Given the description of an element on the screen output the (x, y) to click on. 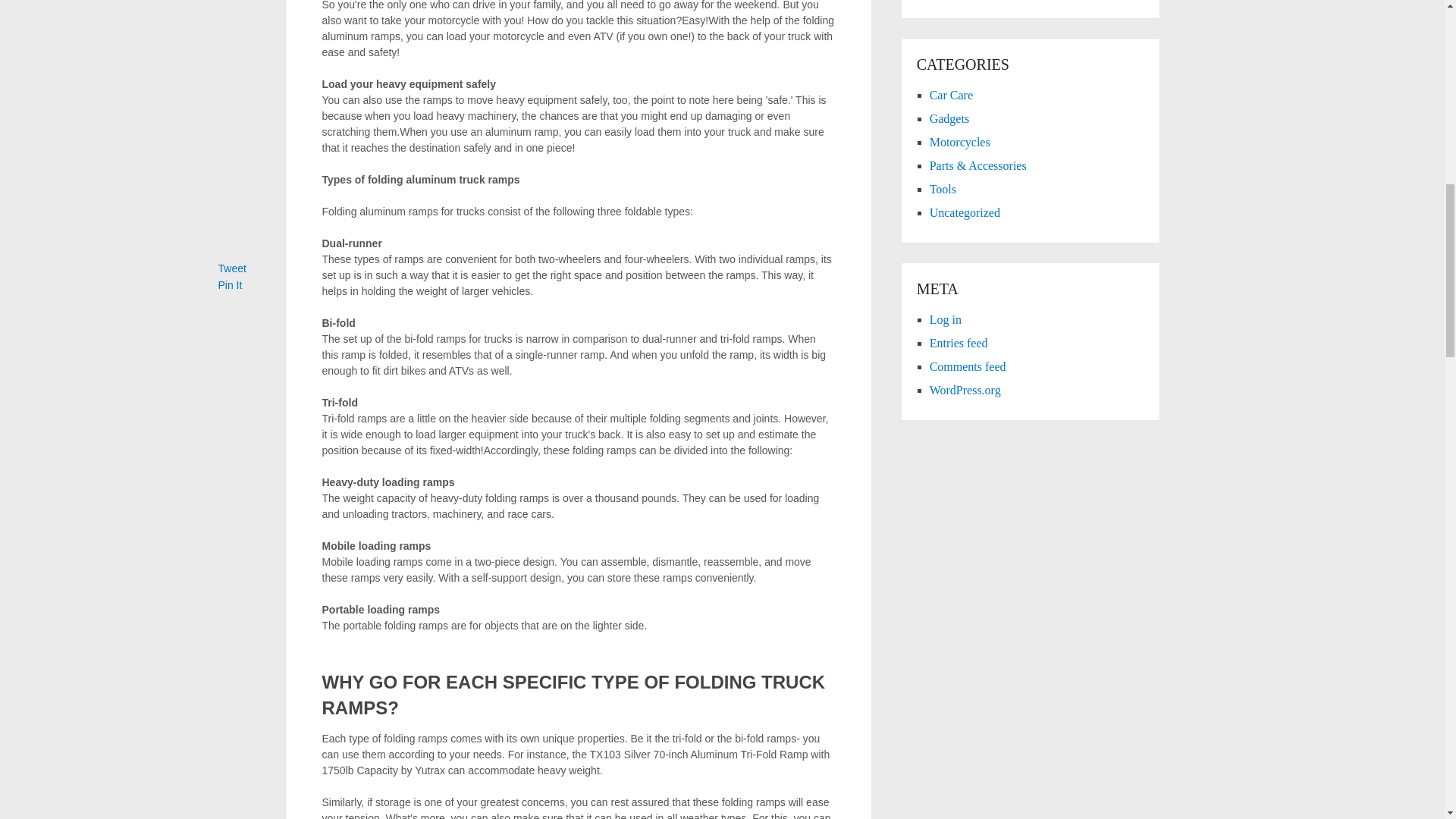
Car Care (951, 94)
Gadgets (949, 118)
